Given the description of an element on the screen output the (x, y) to click on. 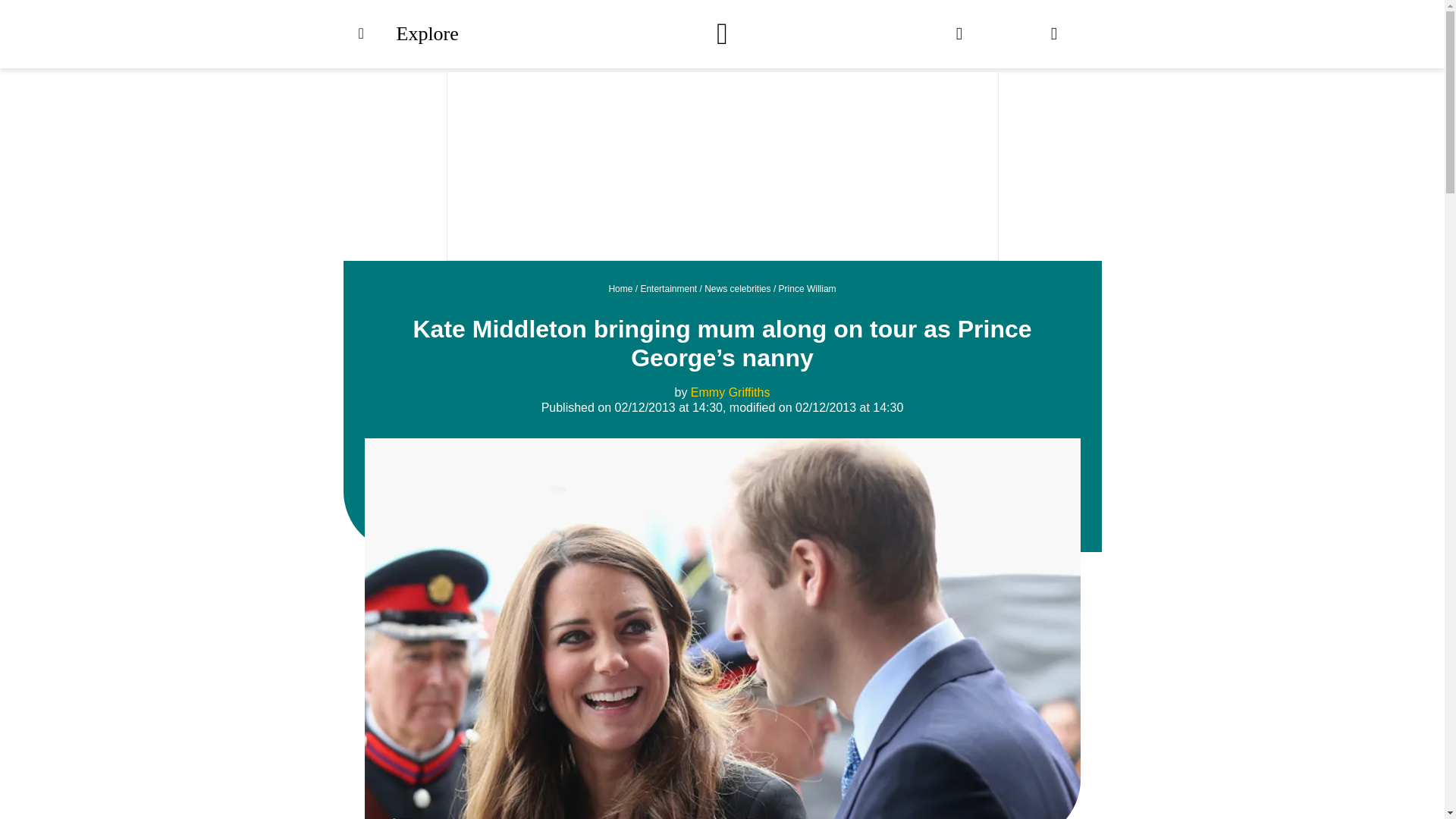
Prince William (806, 288)
Entertainment (668, 288)
Home (619, 288)
Emmy Griffiths (730, 391)
News celebrities (737, 288)
